Given the description of an element on the screen output the (x, y) to click on. 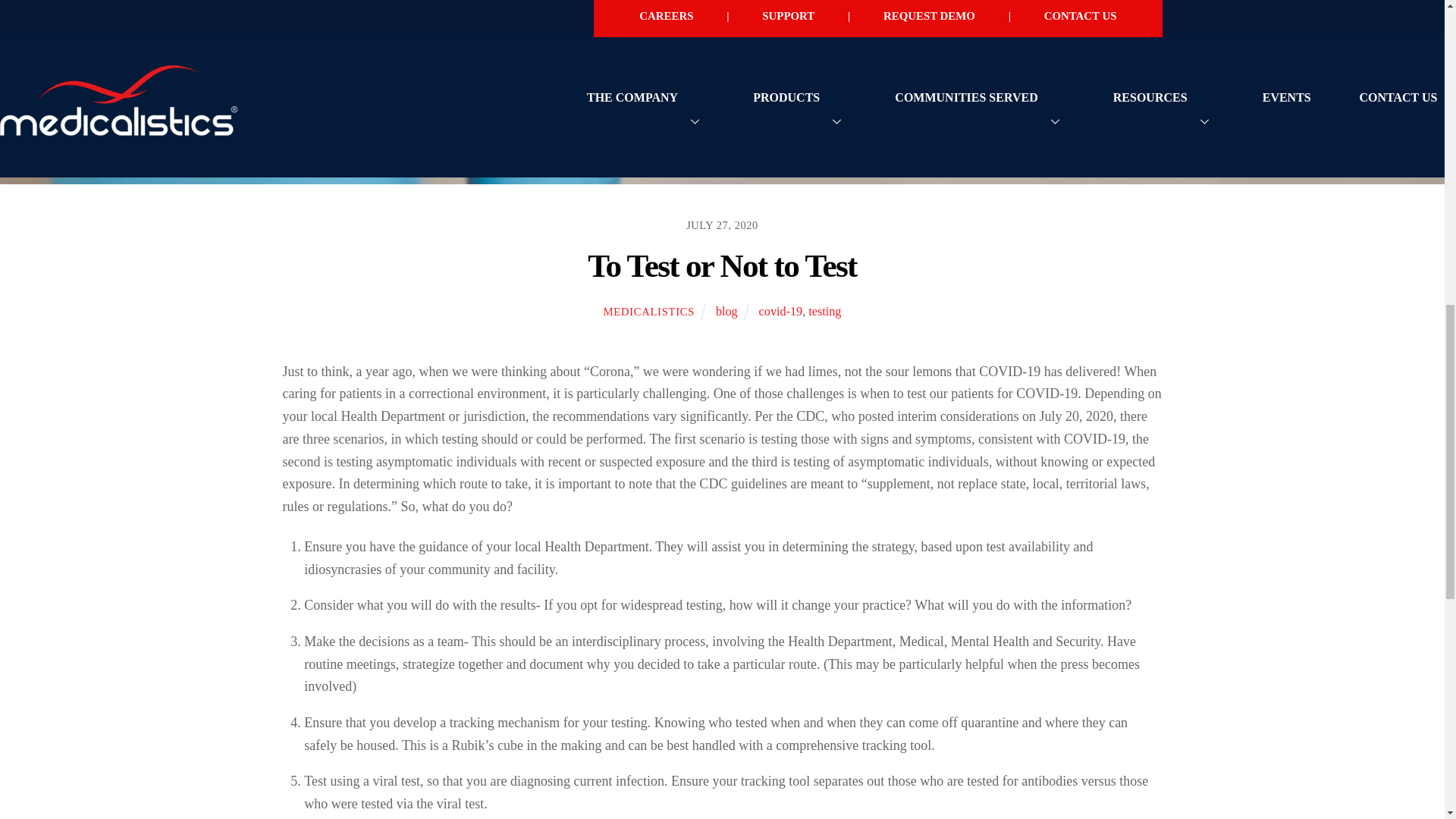
To Test or Not to Test (722, 265)
blog (727, 311)
testing (824, 311)
covid-19 (780, 311)
MEDICALISTICS (649, 311)
